Given the description of an element on the screen output the (x, y) to click on. 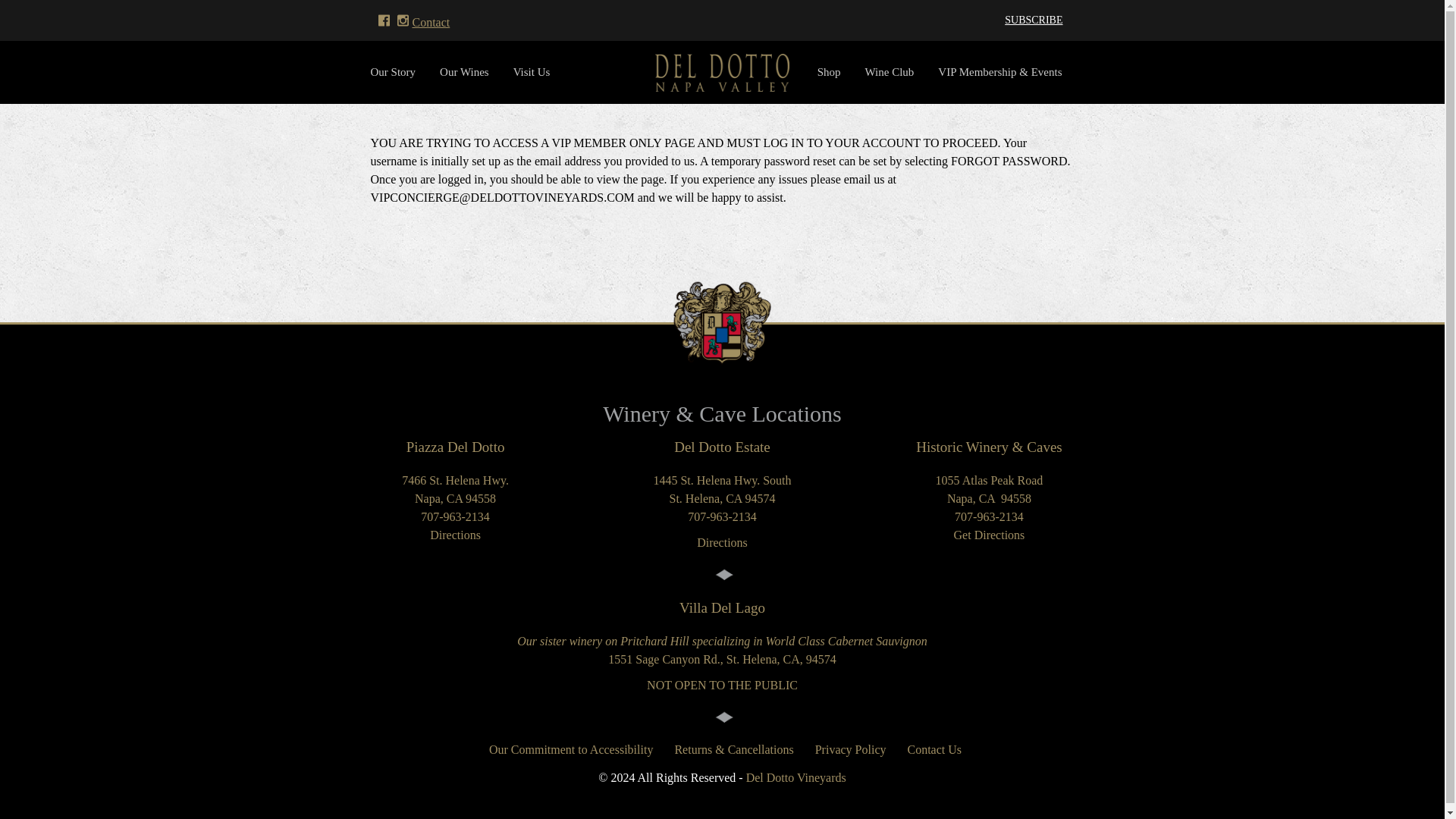
Our Story (398, 72)
Our Commitment to Accessibility (571, 748)
Get Directions (989, 534)
Shop (829, 72)
Piazza Del Dotto (455, 446)
Privacy Policy (850, 748)
Our Wines (464, 72)
Directions (722, 542)
Directions (454, 534)
Contact Us (930, 748)
Wine Club (888, 72)
Del Dotto Vineyards (795, 777)
SUBSCRIBE (1033, 20)
Visit Us (531, 72)
Del Dotto Estate (722, 446)
